Given the description of an element on the screen output the (x, y) to click on. 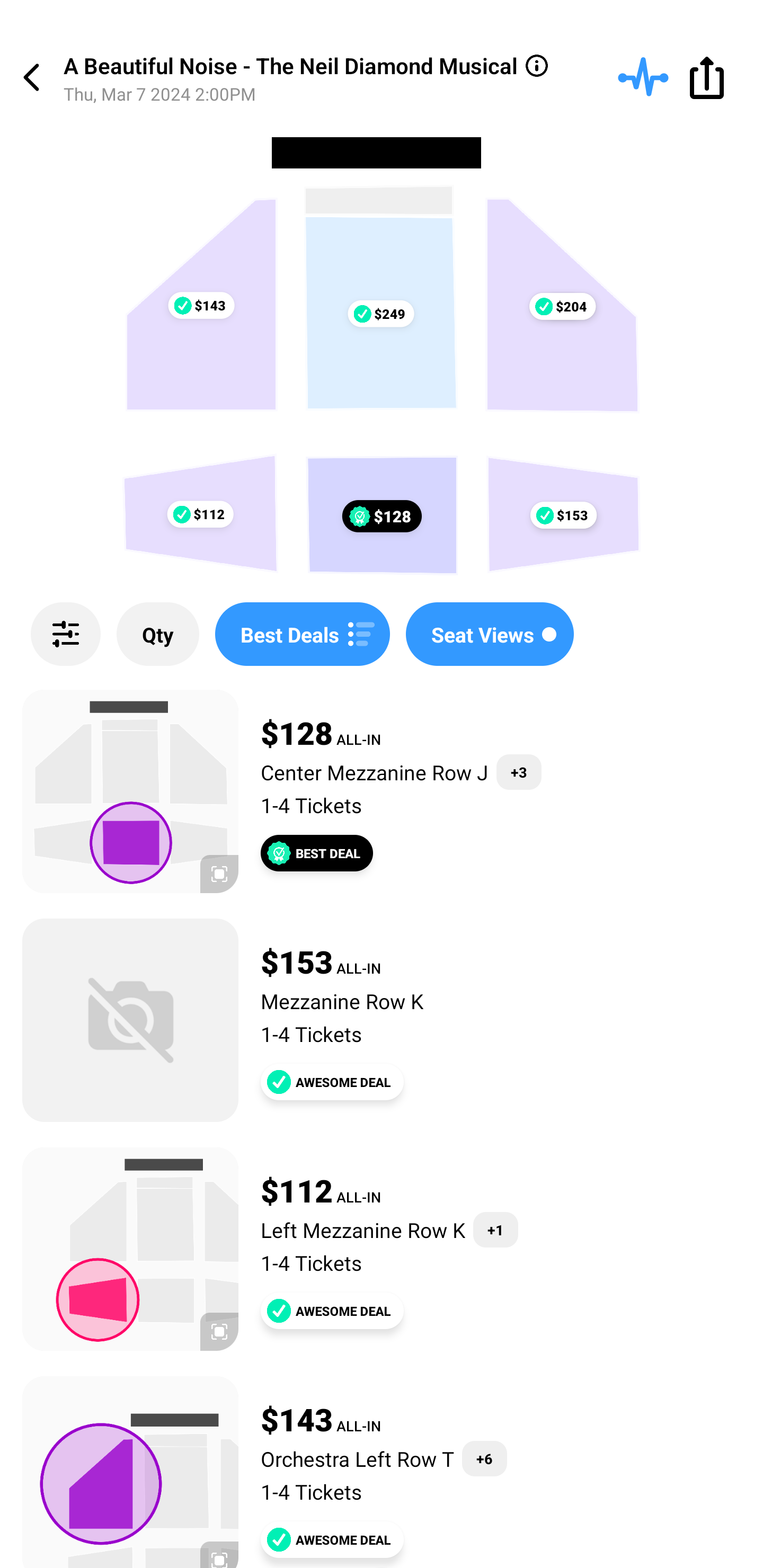
$249 (380, 313)
Qty (157, 634)
Best Deals (302, 634)
Seat Views (489, 634)
+3 (518, 772)
BEST DEAL (316, 852)
AWESOME DEAL (331, 1081)
+1 (495, 1230)
AWESOME DEAL (331, 1310)
+6 (484, 1458)
AWESOME DEAL (331, 1539)
